Given the description of an element on the screen output the (x, y) to click on. 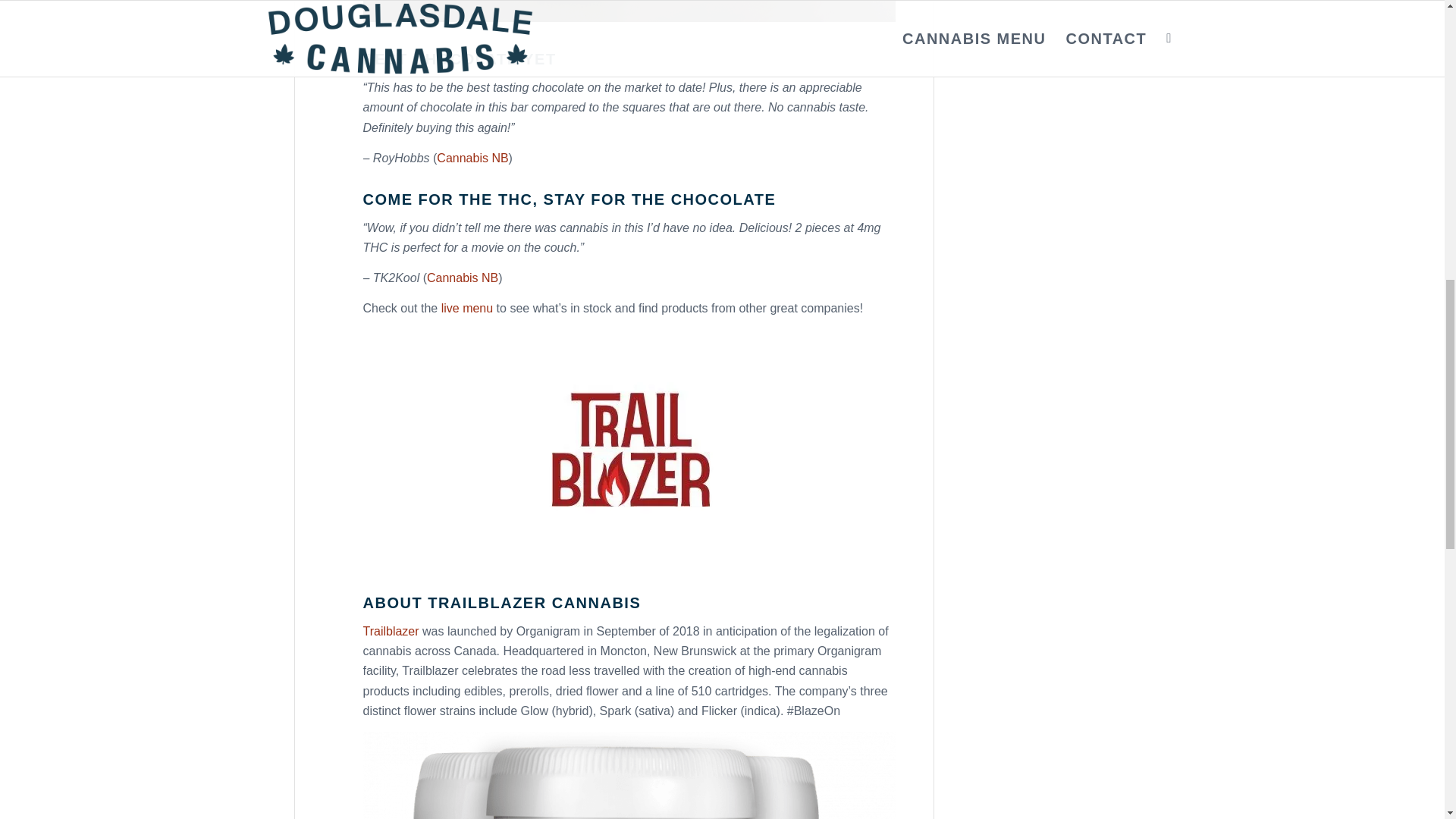
Trailblazer (390, 631)
Cannabis NB (461, 277)
live menu (467, 308)
Cannabis NB (472, 157)
